Given the description of an element on the screen output the (x, y) to click on. 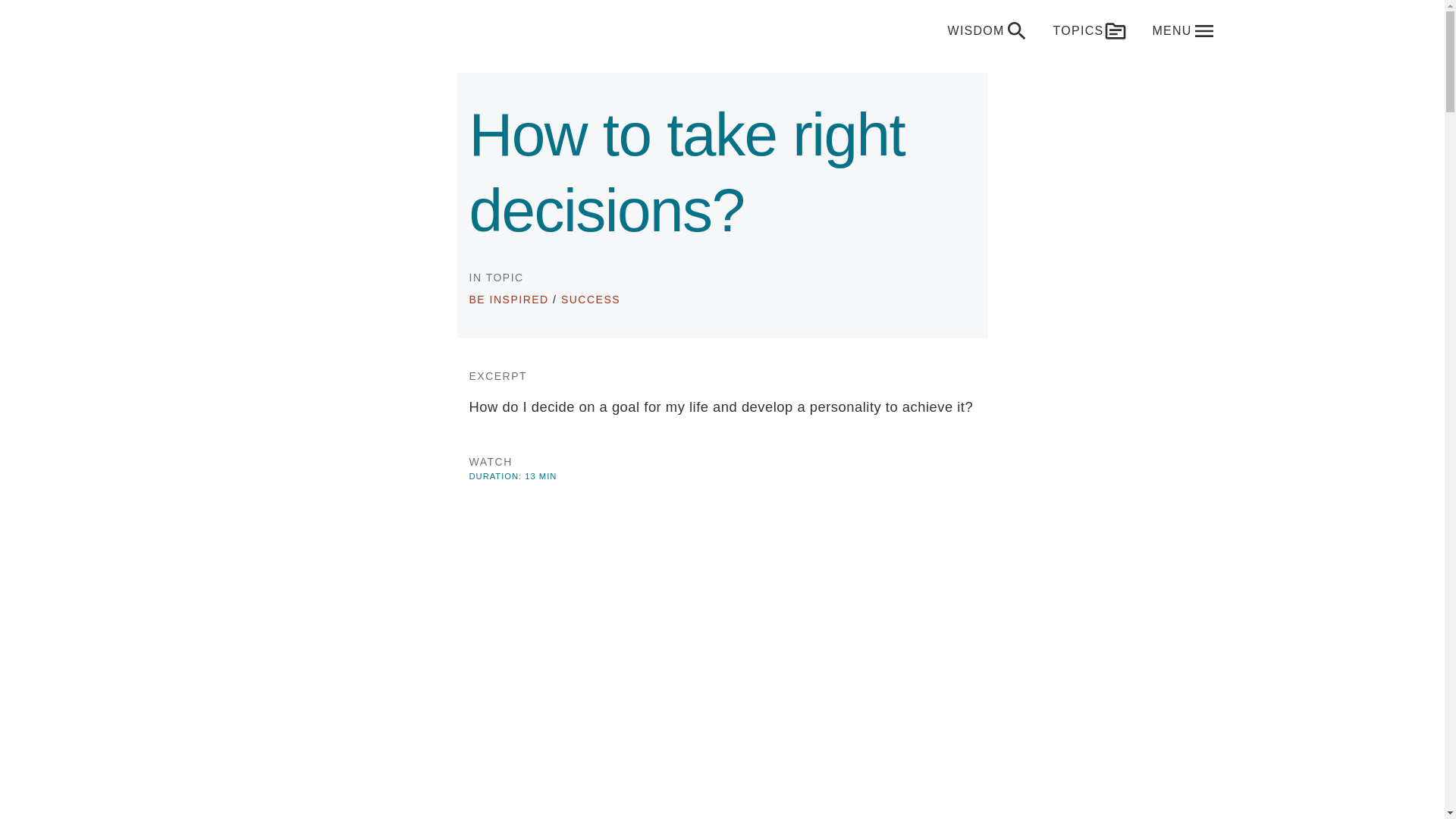
BE INSPIRED (508, 299)
MENU (1183, 30)
WISDOM (988, 30)
SUCCESS (590, 299)
TOPICS (1090, 30)
